Given the description of an element on the screen output the (x, y) to click on. 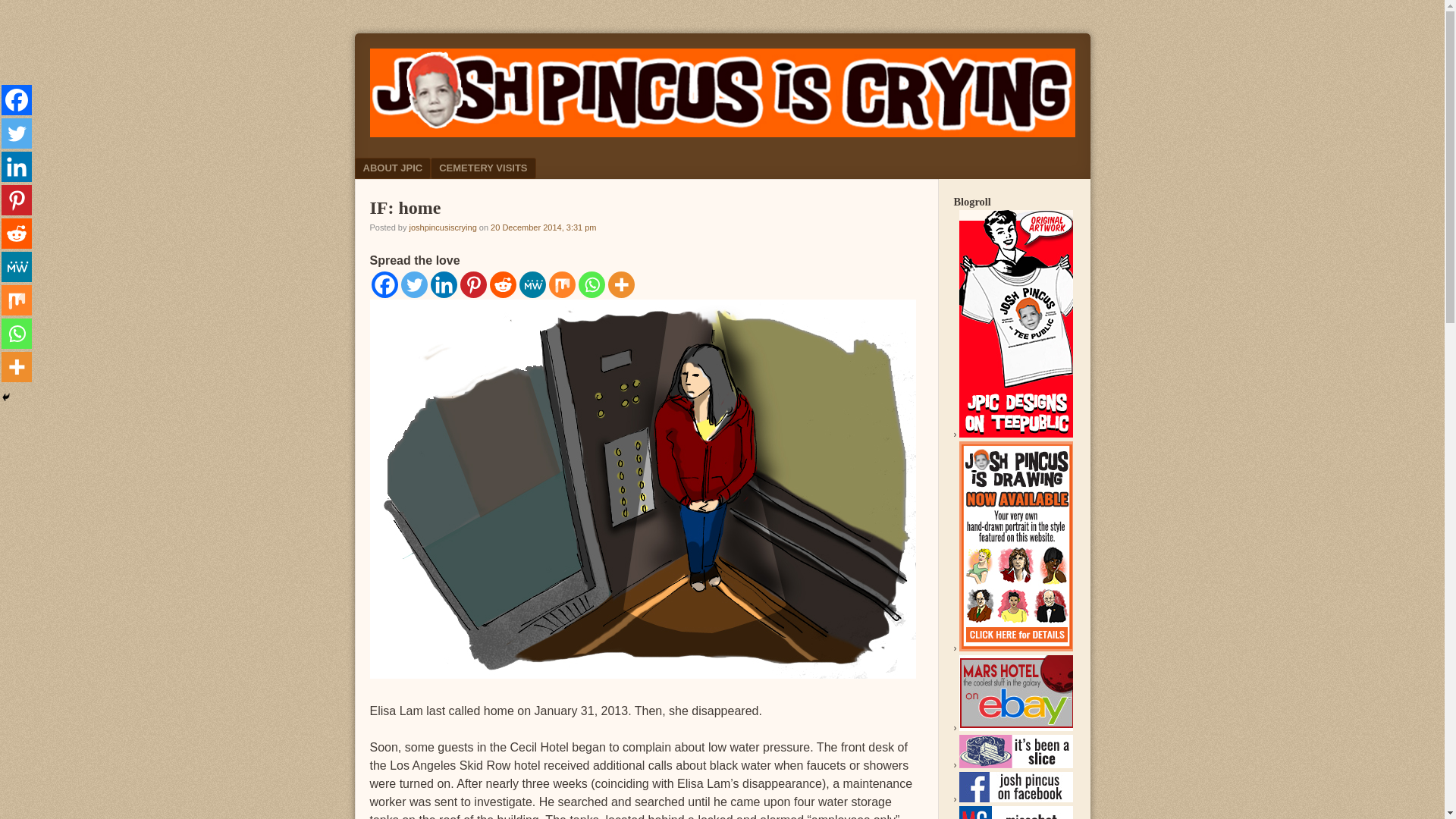
Skip to content (408, 168)
josh pincus is crying (722, 132)
Mix (561, 284)
CEMETERY VISITS (482, 168)
ABOUT JPIC (392, 168)
Whatsapp (591, 284)
Twitter (413, 284)
Pinterest (473, 284)
SKIP TO CONTENT (408, 168)
View all posts by joshpincusiscrying (442, 226)
